Given the description of an element on the screen output the (x, y) to click on. 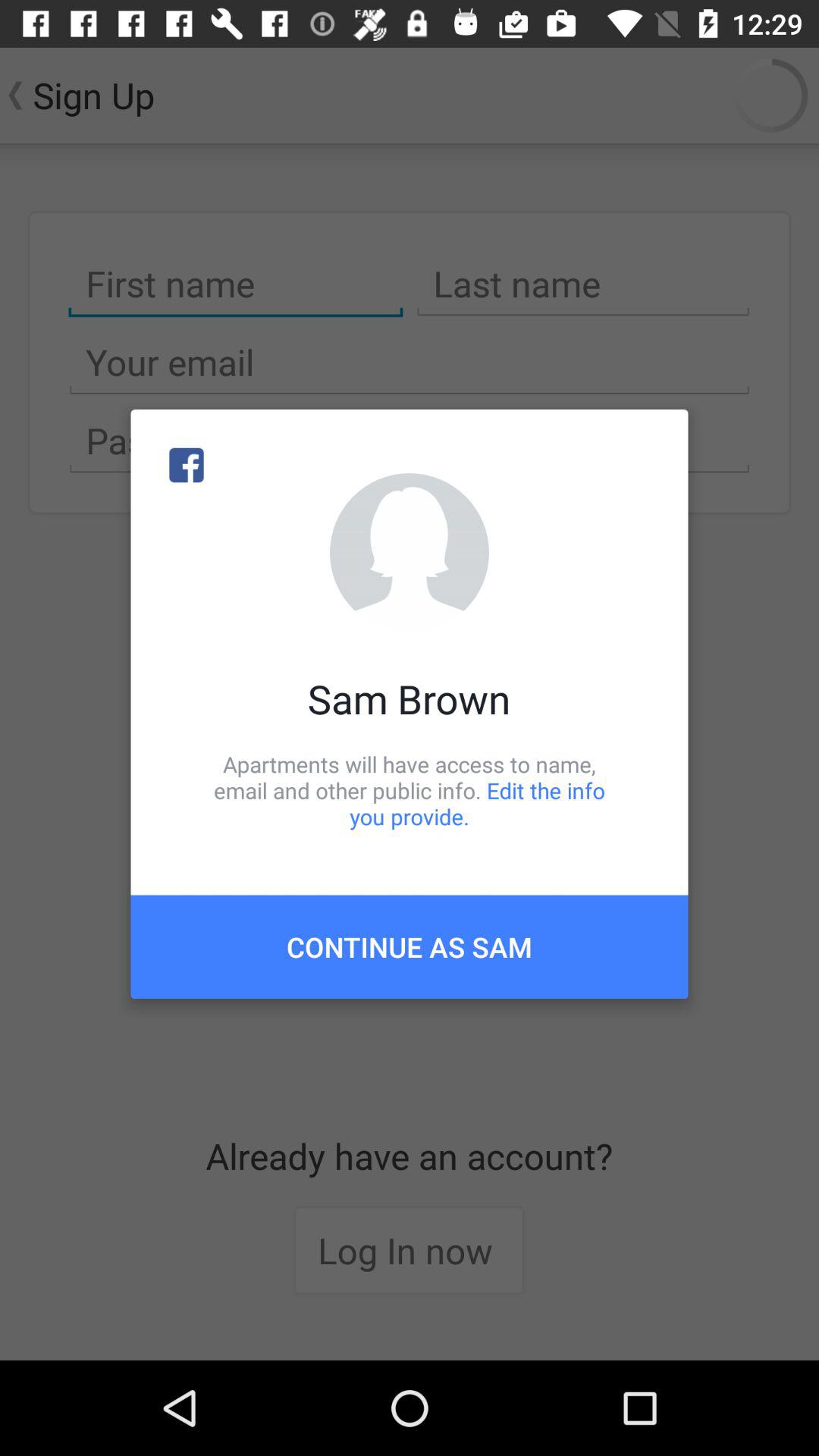
turn on continue as sam item (409, 946)
